Given the description of an element on the screen output the (x, y) to click on. 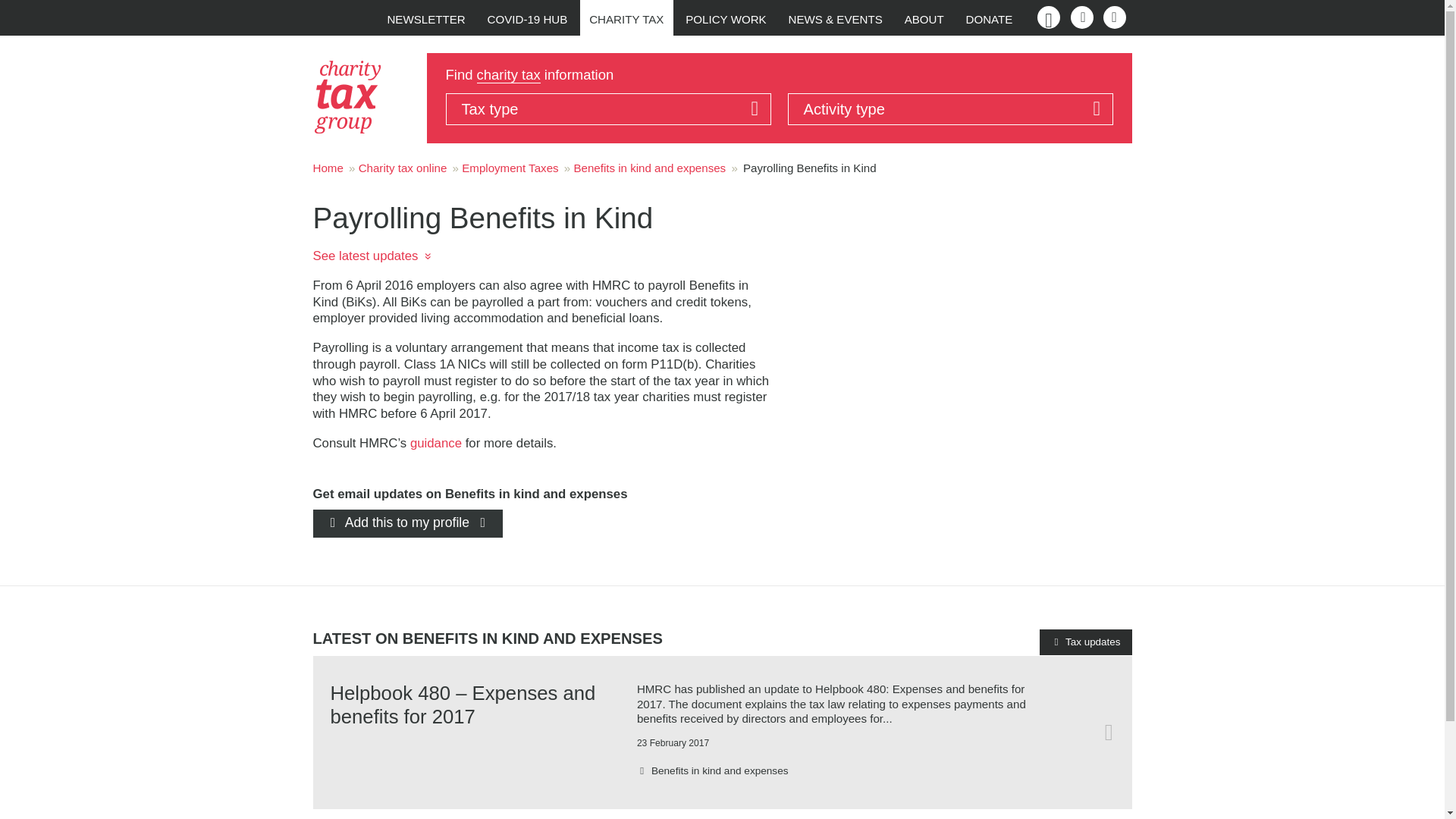
Register as a member (1081, 16)
CHARITY TAX (625, 19)
Skip to main content (14, 13)
POLICY WORK (726, 19)
NEWSLETTER (425, 19)
DONATE (989, 19)
ABOUT (924, 19)
Search this site (1043, 16)
Log in (1113, 16)
Register as a member (1081, 16)
